Given the description of an element on the screen output the (x, y) to click on. 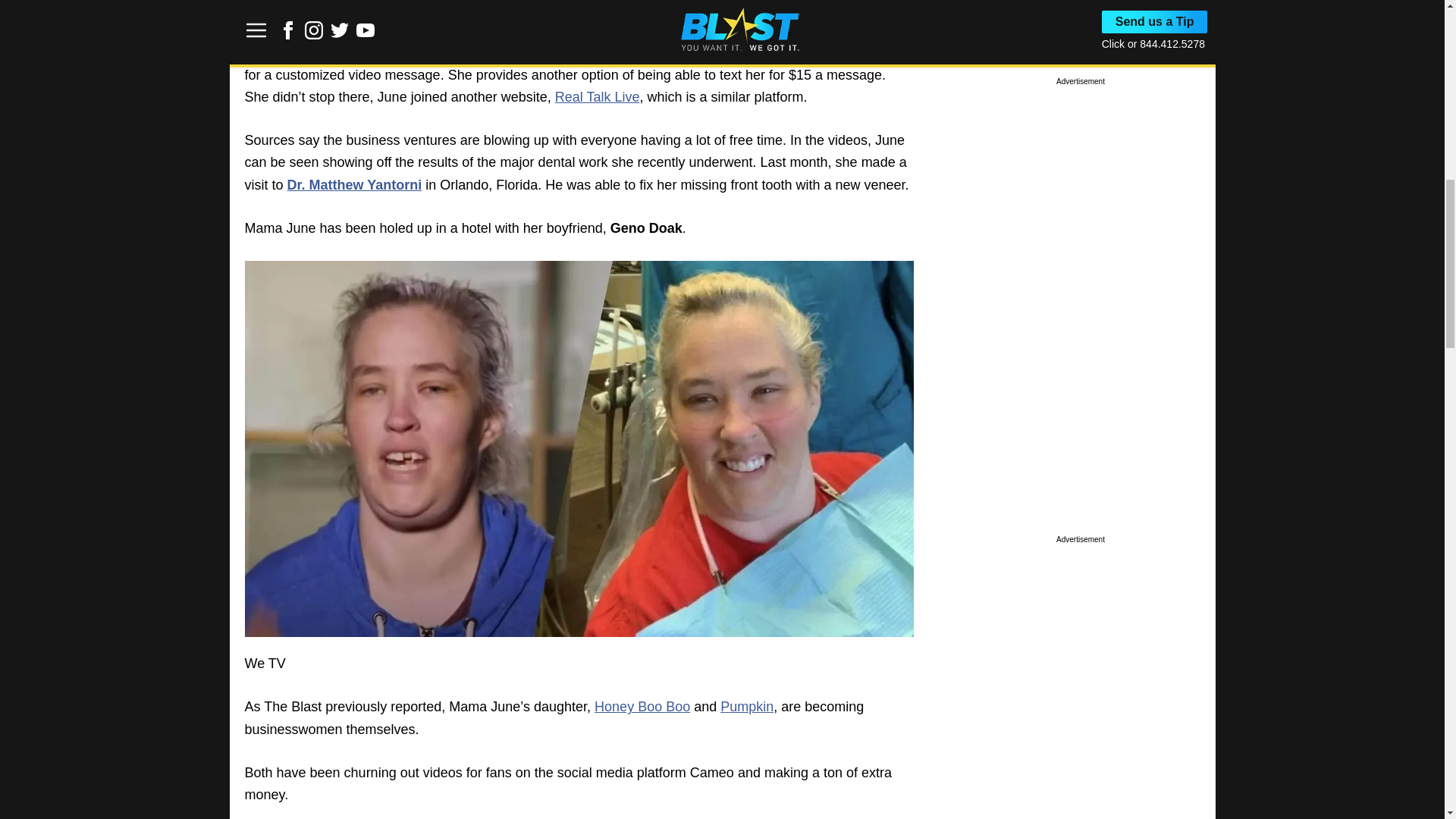
Pumpkin (746, 706)
PayPhone (633, 52)
Honey Boo Boo (642, 706)
Dr. Matthew Yantorni (354, 184)
Real Talk Live (597, 96)
